Given the description of an element on the screen output the (x, y) to click on. 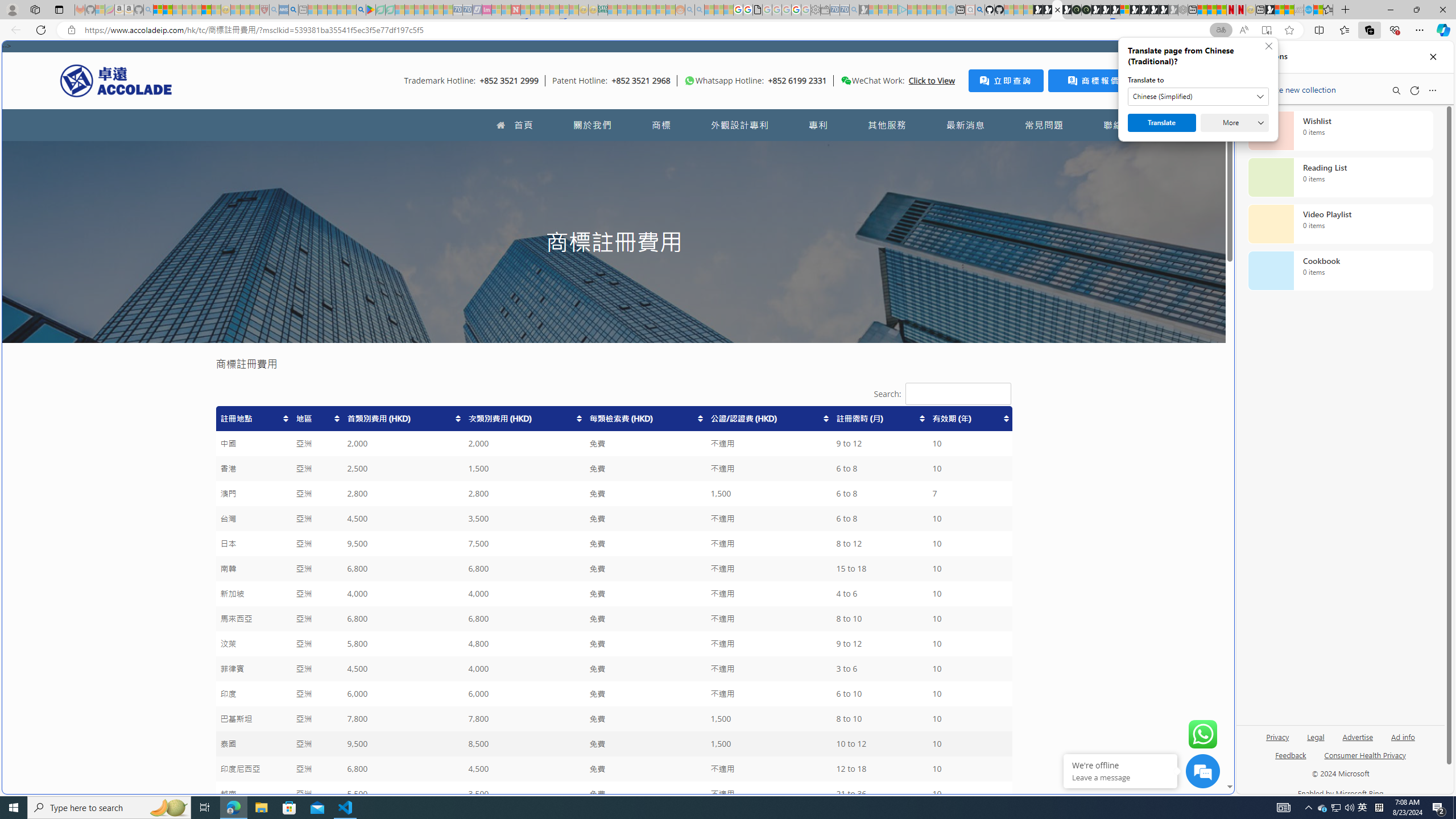
Frequently visited (965, 151)
Translate to (1198, 96)
Class: row-4 even (613, 493)
7,800 (524, 718)
Class: row-13 odd (613, 718)
Microsoft Start - Sleeping (930, 9)
Local - MSN - Sleeping (254, 9)
